Given the description of an element on the screen output the (x, y) to click on. 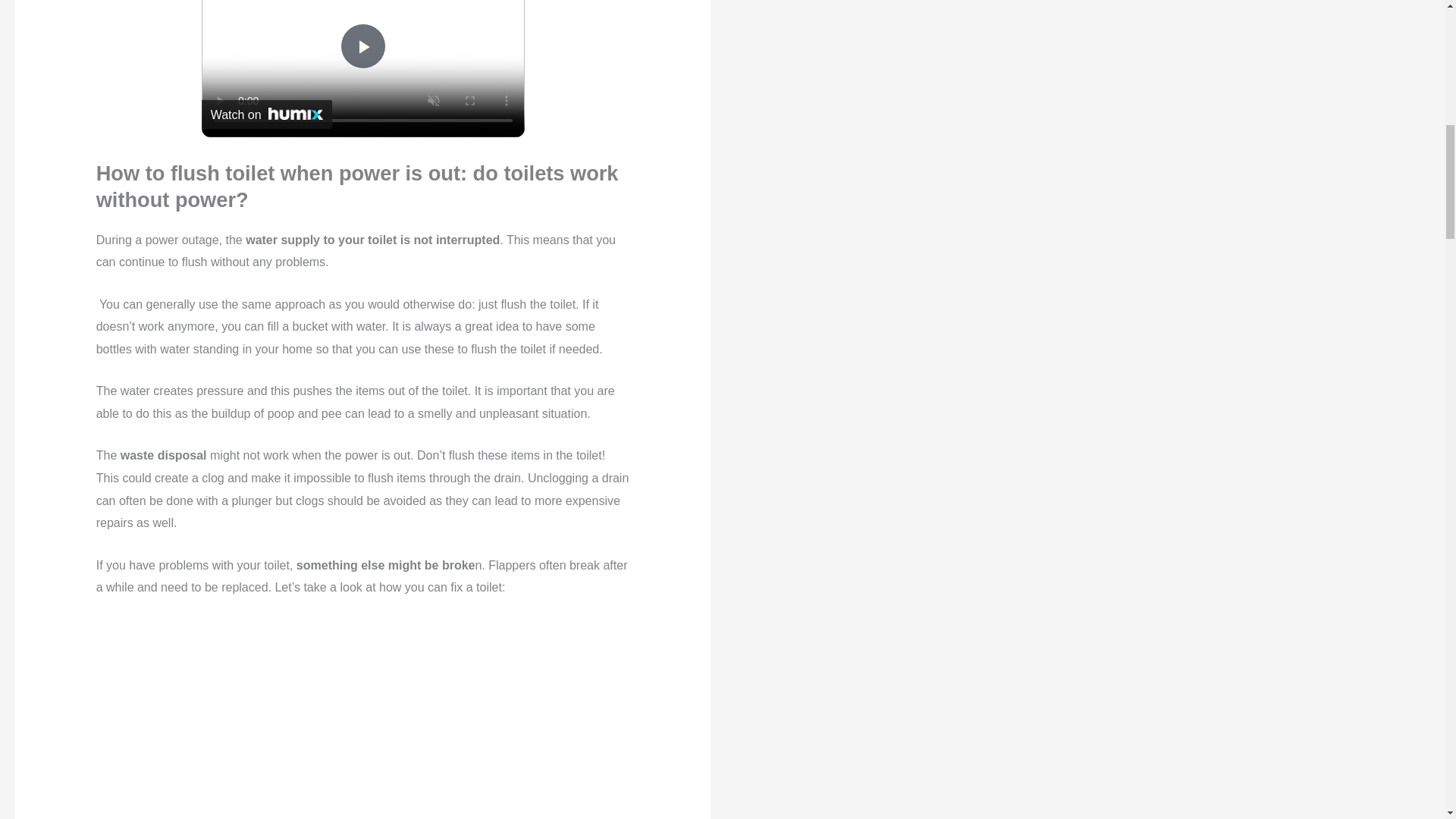
Play Video (362, 45)
Play Video (362, 45)
share (494, 1)
Share (494, 1)
Watch on (266, 113)
